Given the description of an element on the screen output the (x, y) to click on. 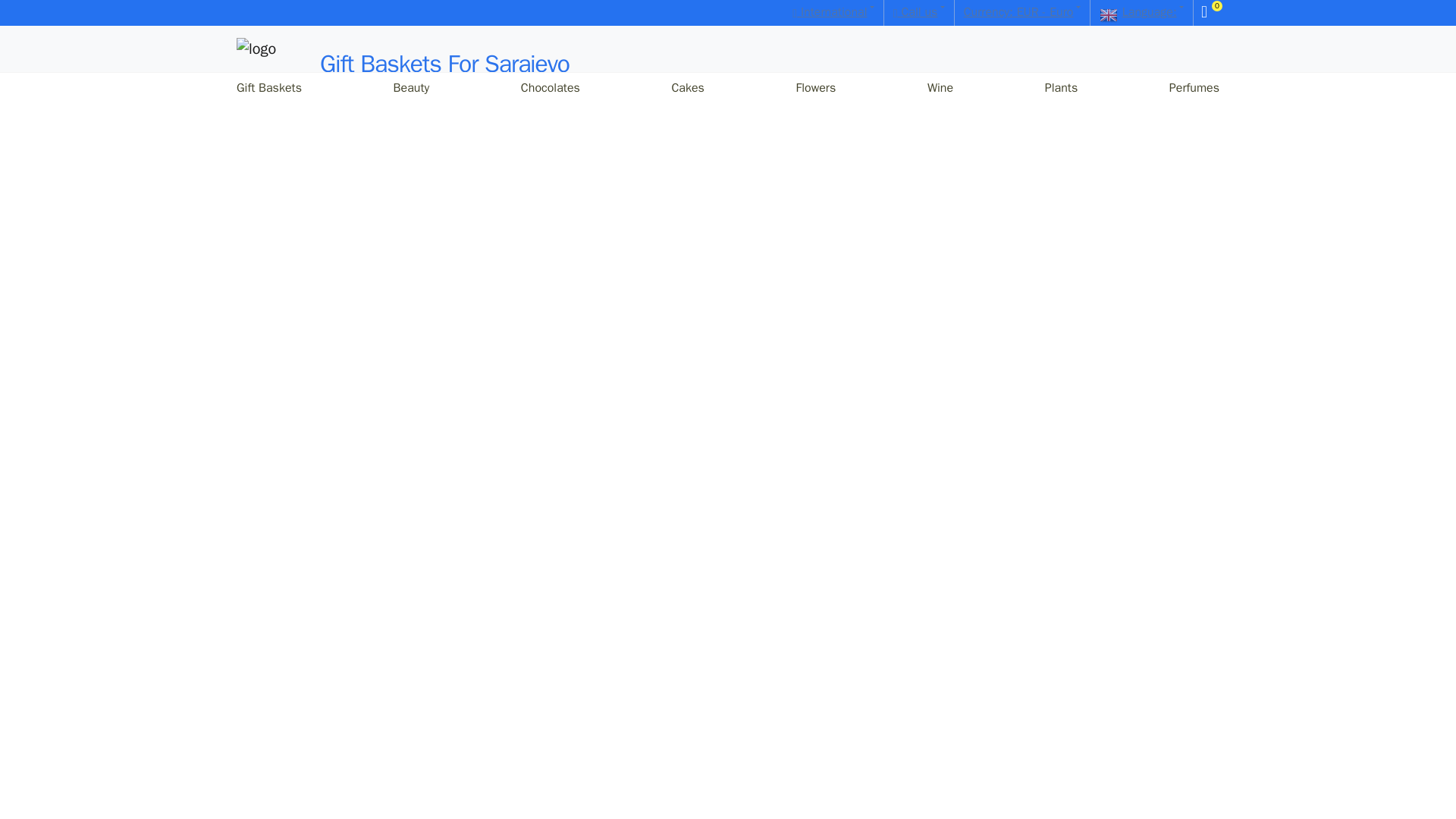
Title (832, 12)
International (832, 12)
